Given the description of an element on the screen output the (x, y) to click on. 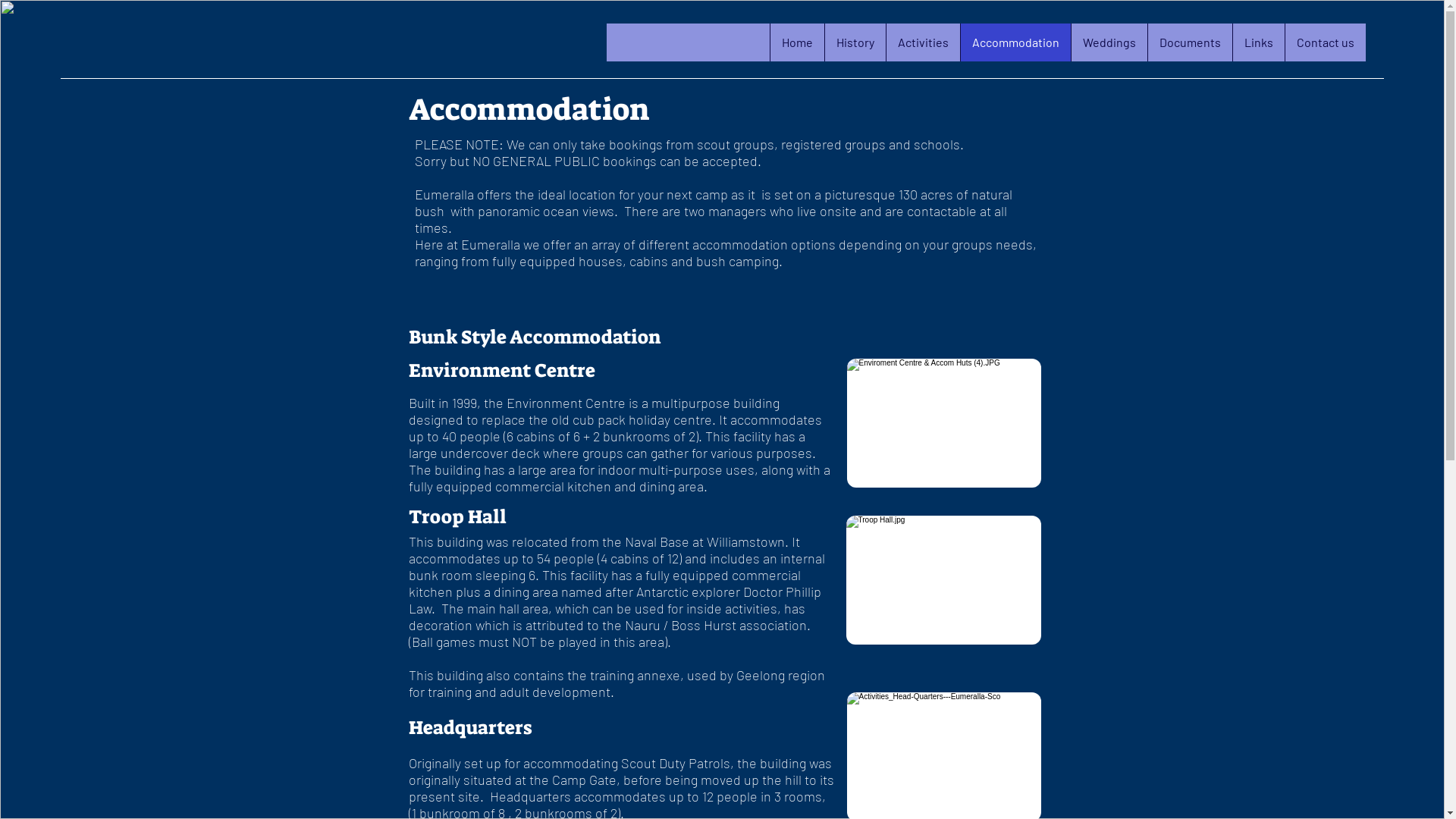
Activities Element type: text (922, 42)
Accommodation Element type: text (1015, 42)
Links Element type: text (1258, 42)
Contact us Element type: text (1324, 42)
Home Element type: text (796, 42)
Documents Element type: text (1189, 42)
History Element type: text (854, 42)
Weddings Element type: text (1108, 42)
